Given the description of an element on the screen output the (x, y) to click on. 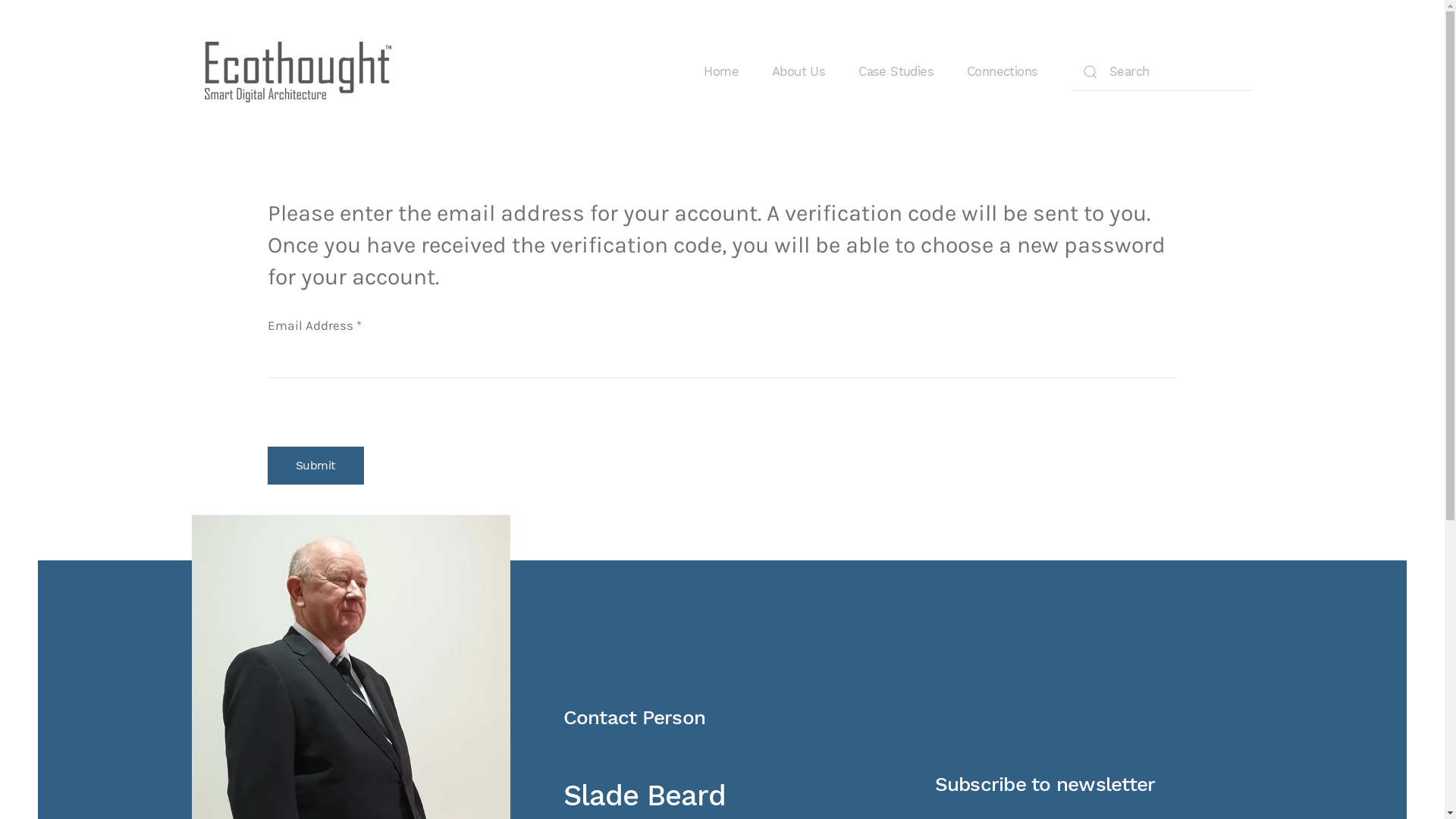
Home Element type: text (720, 71)
Case Studies Element type: text (895, 71)
Slade Beard Element type: text (643, 794)
Connections Element type: text (1001, 71)
About Us Element type: text (798, 71)
Submit Element type: text (314, 465)
